Given the description of an element on the screen output the (x, y) to click on. 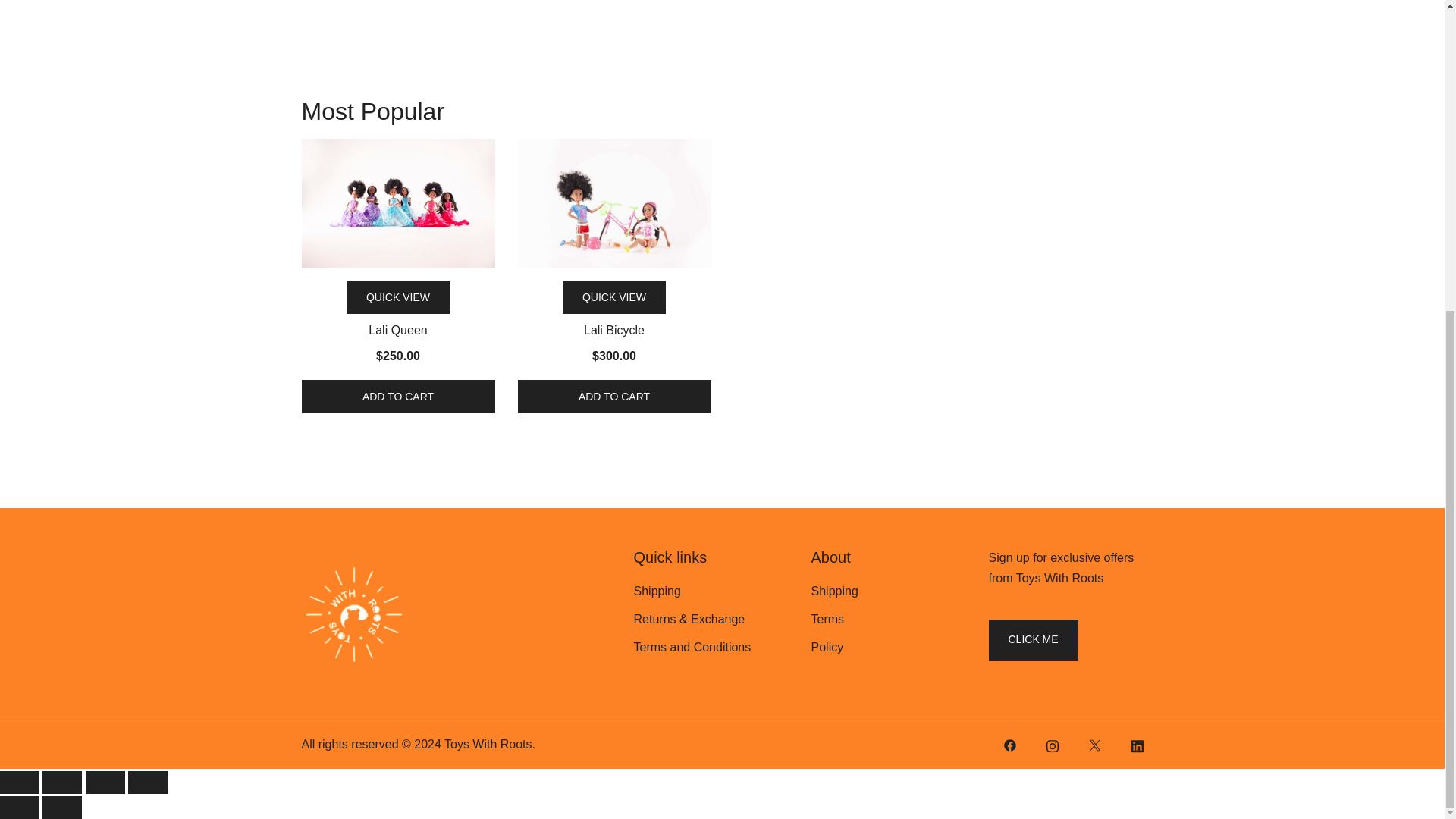
Terms and Conditions (692, 646)
QUICK VIEW (613, 296)
Shipping (657, 590)
Terms (827, 618)
Policy (827, 646)
Lali Queen (398, 202)
QUICK VIEW (397, 296)
ADD TO CART (398, 396)
CLICK ME (1033, 639)
Lali Bicycle (613, 202)
ADD TO CART (613, 396)
Shipping (834, 590)
